Given the description of an element on the screen output the (x, y) to click on. 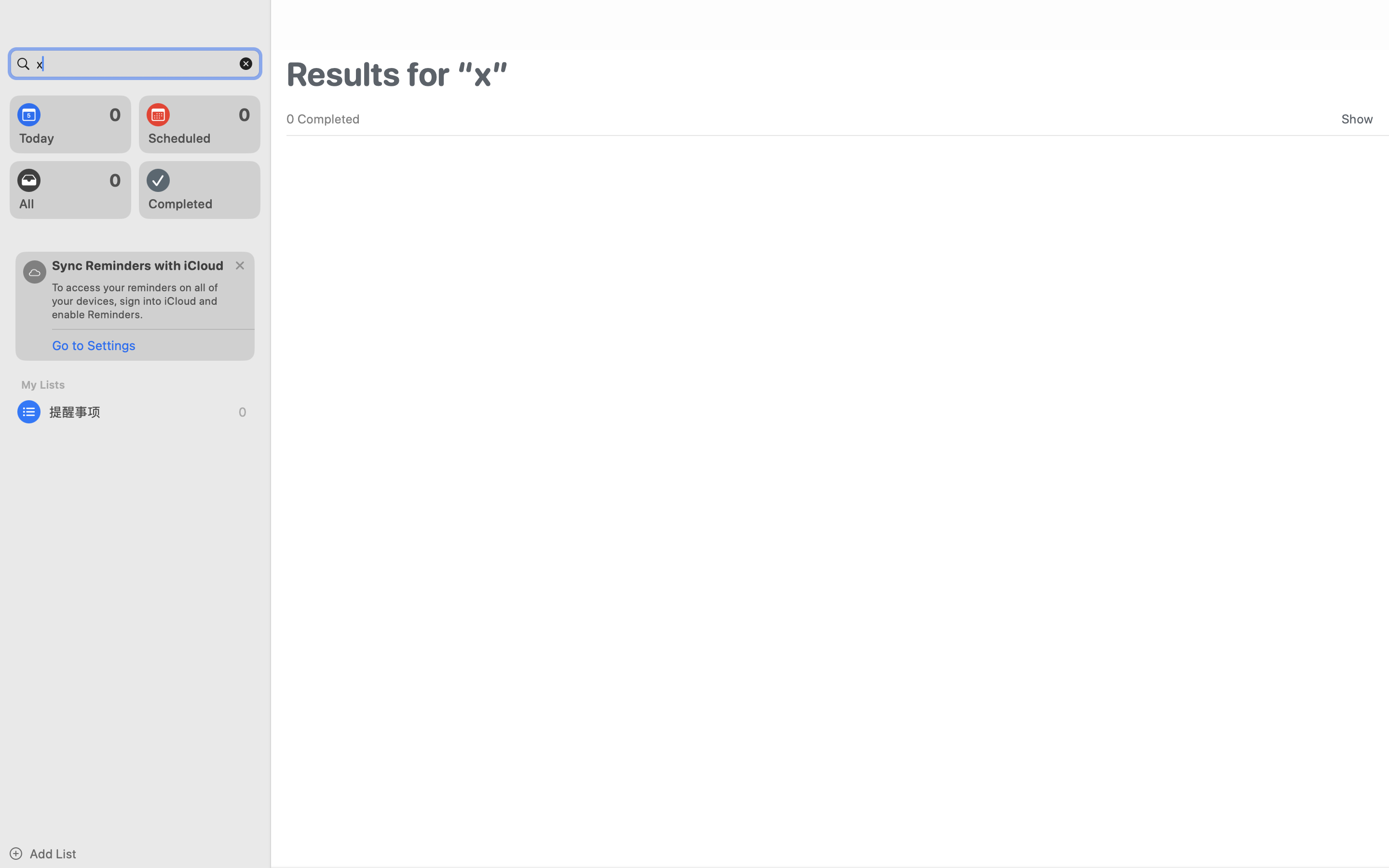
Sync Reminders with iCloud Element type: AXStaticText (137, 264)
To access your reminders on all of your devices, sign into iCloud and enable Reminders. Element type: AXStaticText (139, 300)
提醒事项 Element type: AXTextField (135, 411)
x Element type: AXTextField (134, 63)
0 Completed Element type: AXStaticText (322, 118)
